Given the description of an element on the screen output the (x, y) to click on. 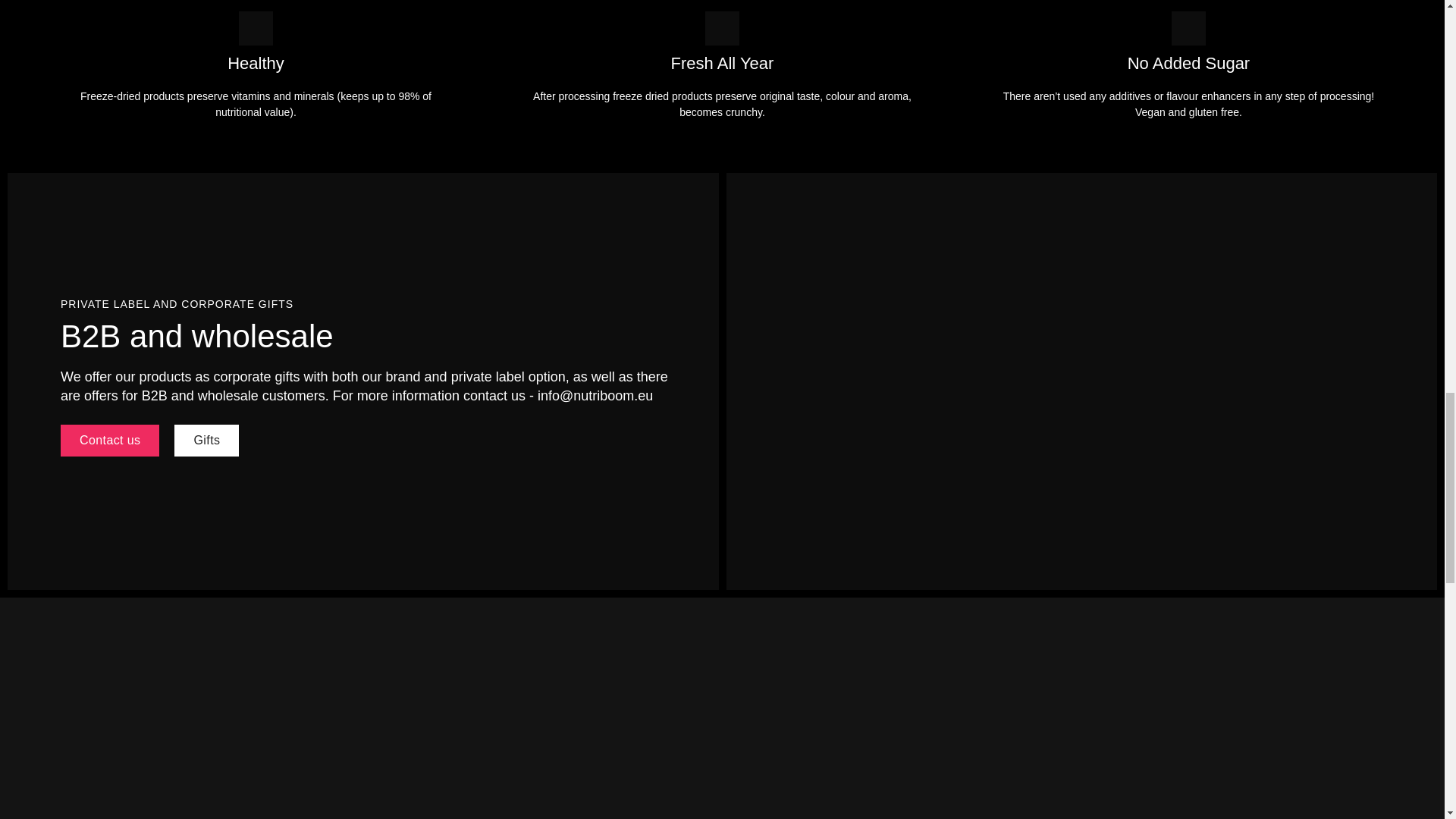
Gifts (206, 440)
Contact us (109, 440)
